Given the description of an element on the screen output the (x, y) to click on. 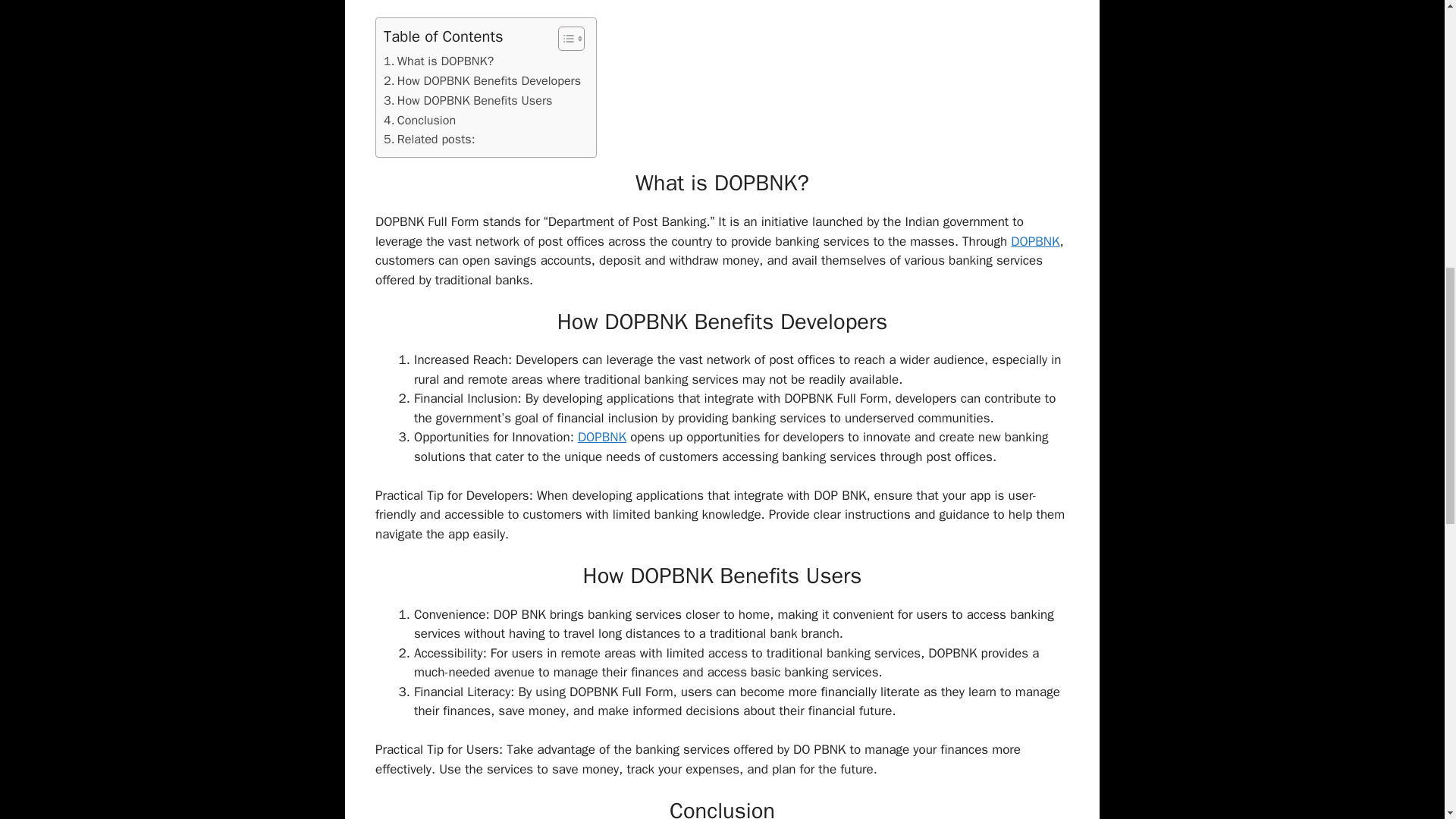
How DOPBNK Benefits Users (467, 100)
How DOPBNK Benefits Developers (482, 80)
Related posts: (430, 139)
Scroll back to top (1406, 720)
Related posts: (430, 139)
What is DOPBNK? (438, 61)
DOPBNK (1034, 241)
Conclusion (419, 120)
Conclusion (419, 120)
How DOPBNK Benefits Users (467, 100)
How DOPBNK Benefits Developers (482, 80)
What is DOPBNK? (438, 61)
DOPBNK (602, 437)
